Given the description of an element on the screen output the (x, y) to click on. 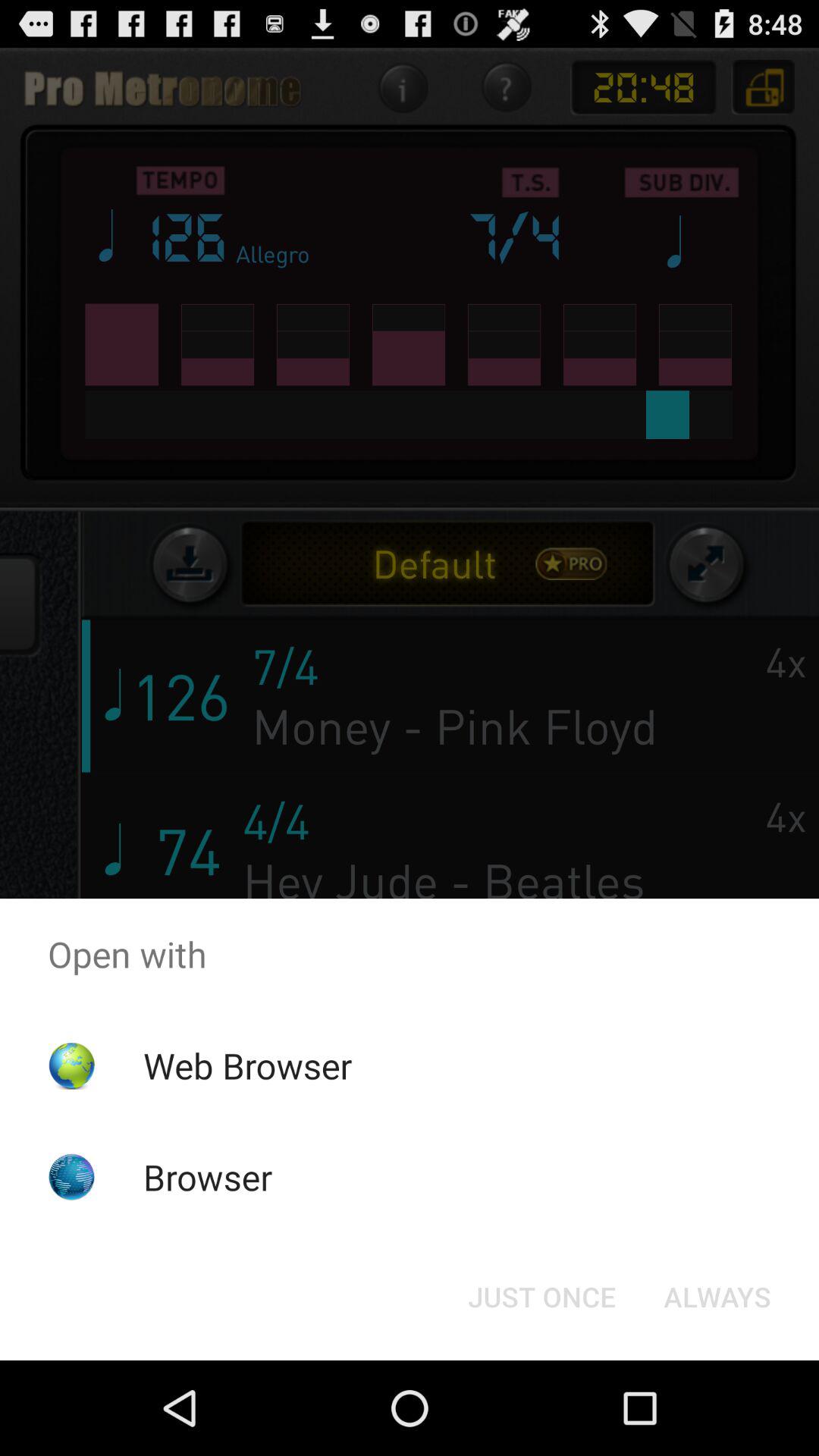
click item at the bottom right corner (717, 1296)
